Given the description of an element on the screen output the (x, y) to click on. 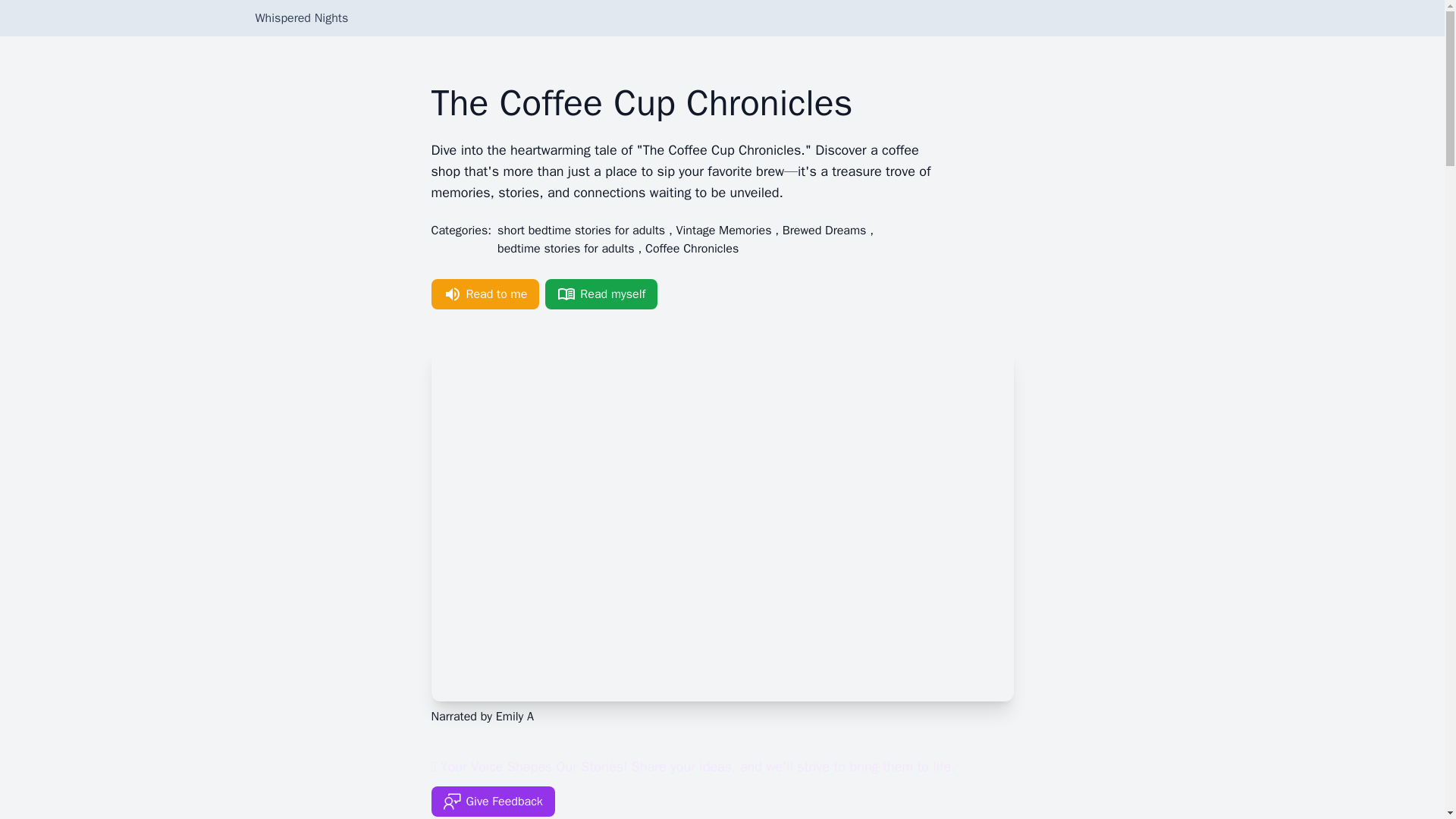
Read myself (601, 294)
Read to me (484, 294)
Whispered Nights (300, 18)
Narrated by Emily A (482, 716)
Give Feedback (492, 801)
